Given the description of an element on the screen output the (x, y) to click on. 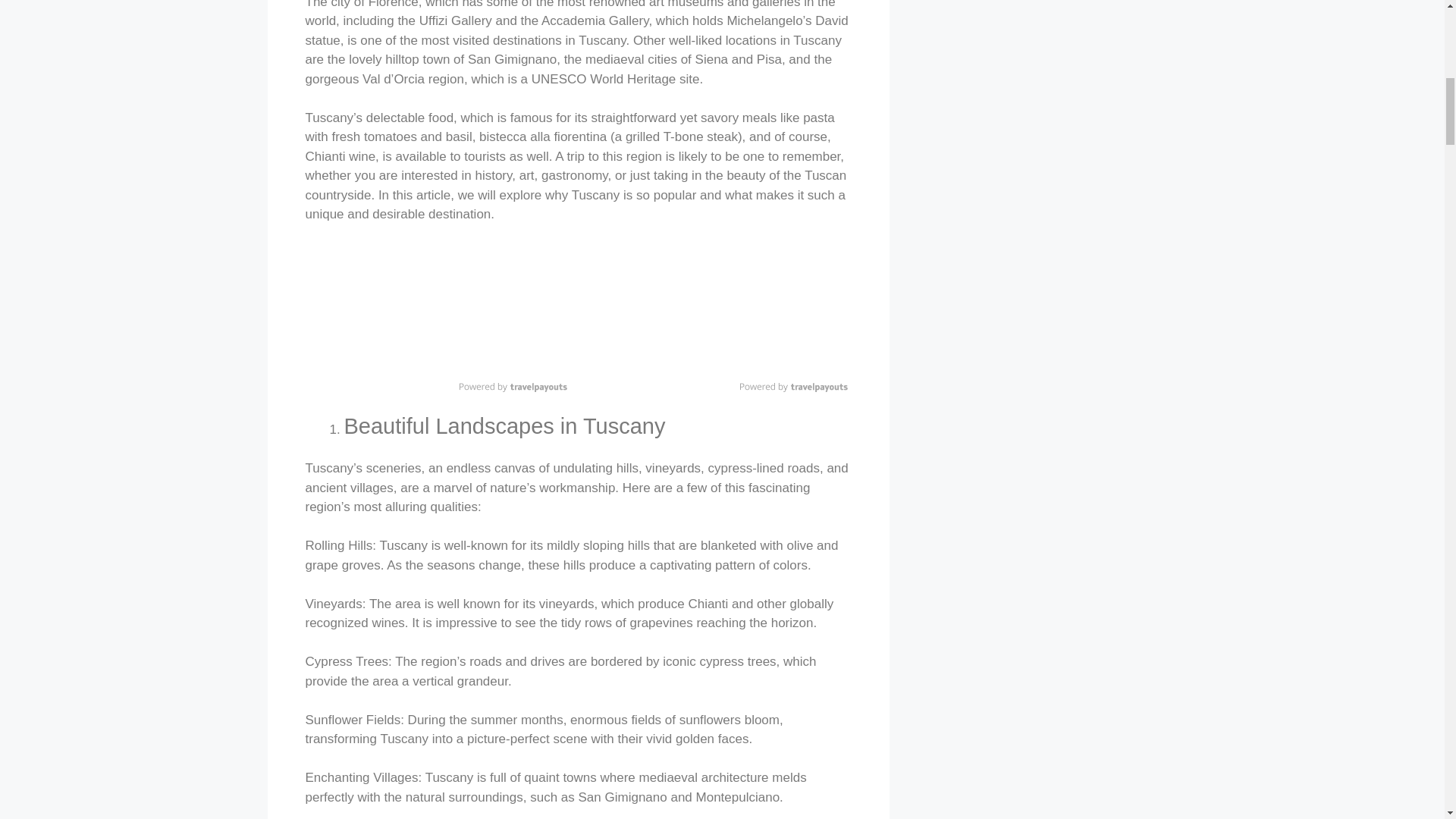
GetYourGuide Widget (437, 315)
GetYourGuide Widget (717, 315)
